Given the description of an element on the screen output the (x, y) to click on. 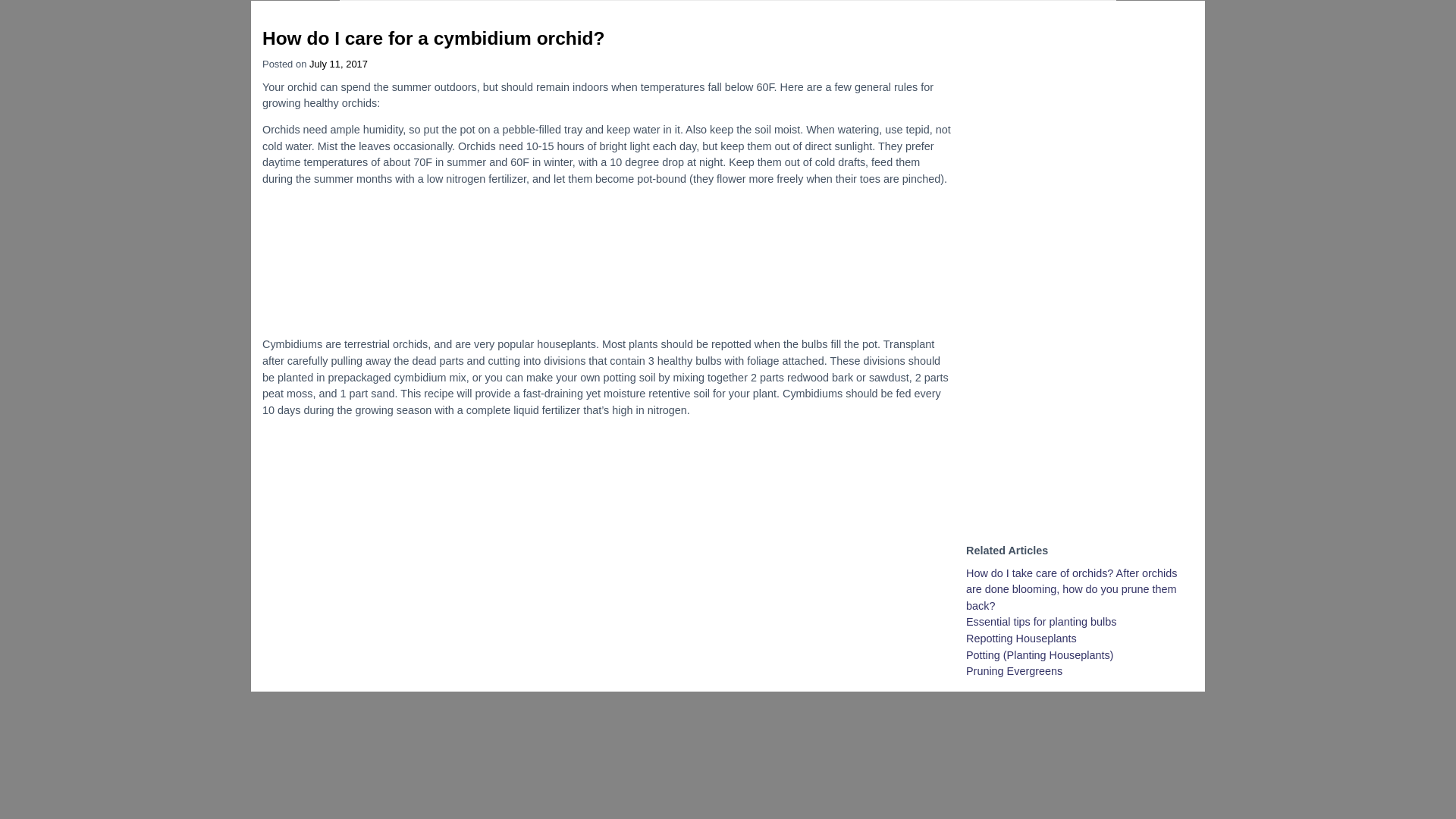
11:31 am (338, 63)
July 11, 2017 (338, 63)
Permalink to How do I care for a cymbidium orchid? (433, 37)
Advertisement (606, 534)
Essential tips for planting bulbs (1041, 621)
Advertisement (605, 261)
Repotting Houseplants (1021, 638)
How do I care for a cymbidium orchid? (433, 37)
Pruning Evergreens (1014, 671)
